Given the description of an element on the screen output the (x, y) to click on. 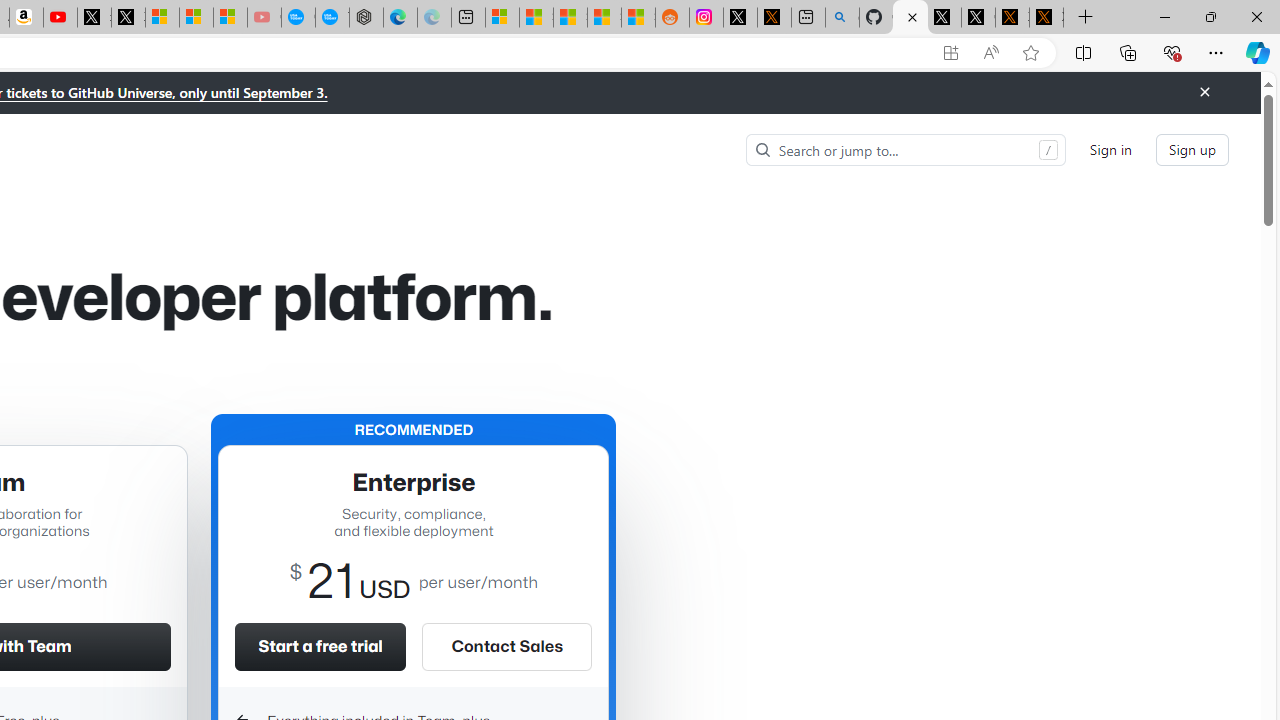
Sign up (1191, 149)
X (127, 17)
Start a free trial (320, 646)
X Privacy Policy (1046, 17)
Shanghai, China hourly forecast | Microsoft Weather (570, 17)
help.x.com | 524: A timeout occurred (774, 17)
Log in to X / X (740, 17)
Nordace - Nordace has arrived Hong Kong (365, 17)
